Given the description of an element on the screen output the (x, y) to click on. 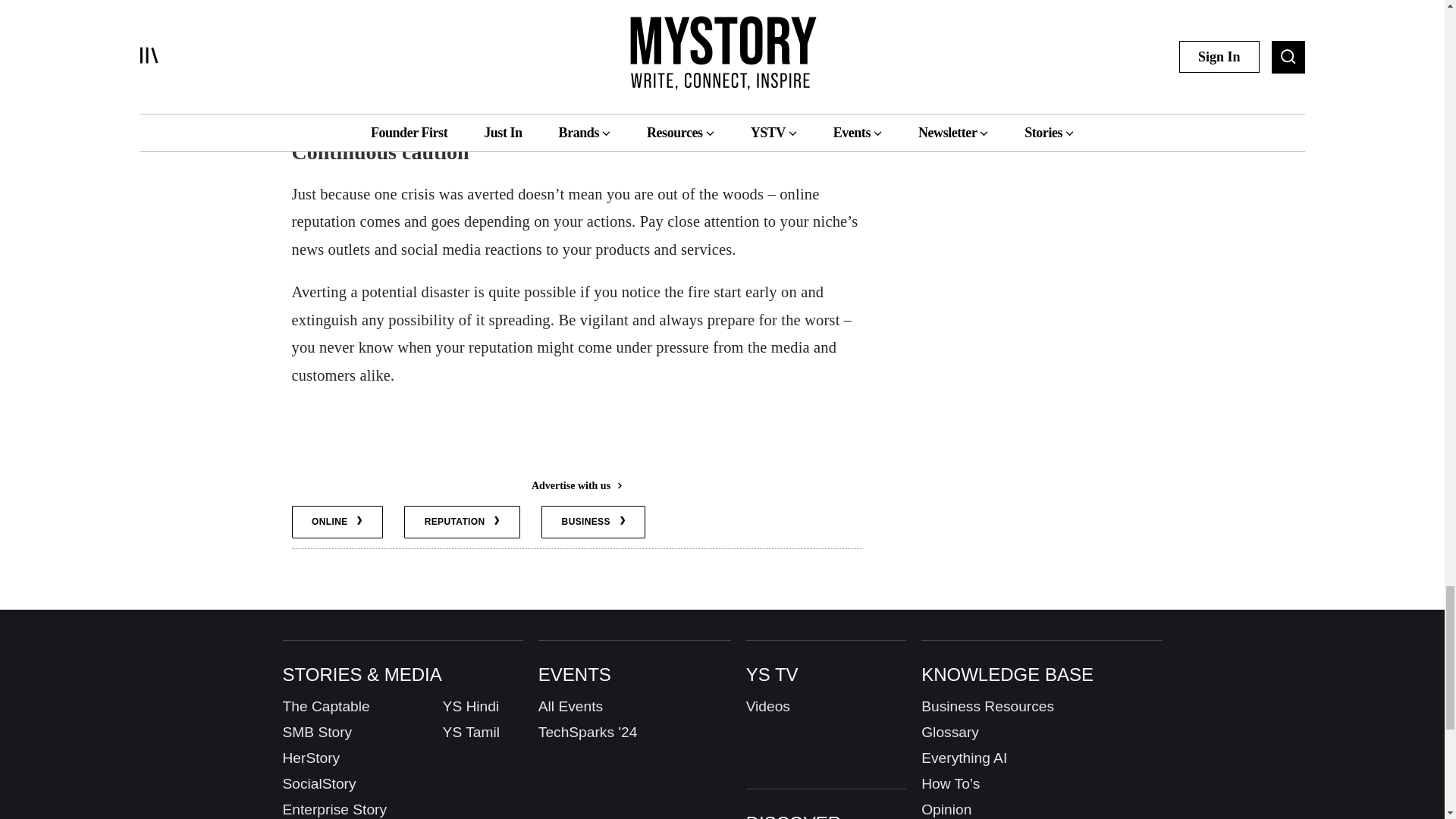
BUSINESS (593, 522)
3rd party ad content (575, 439)
REPUTATION (461, 522)
Advertise with us (576, 485)
ONLINE (336, 522)
